Given the description of an element on the screen output the (x, y) to click on. 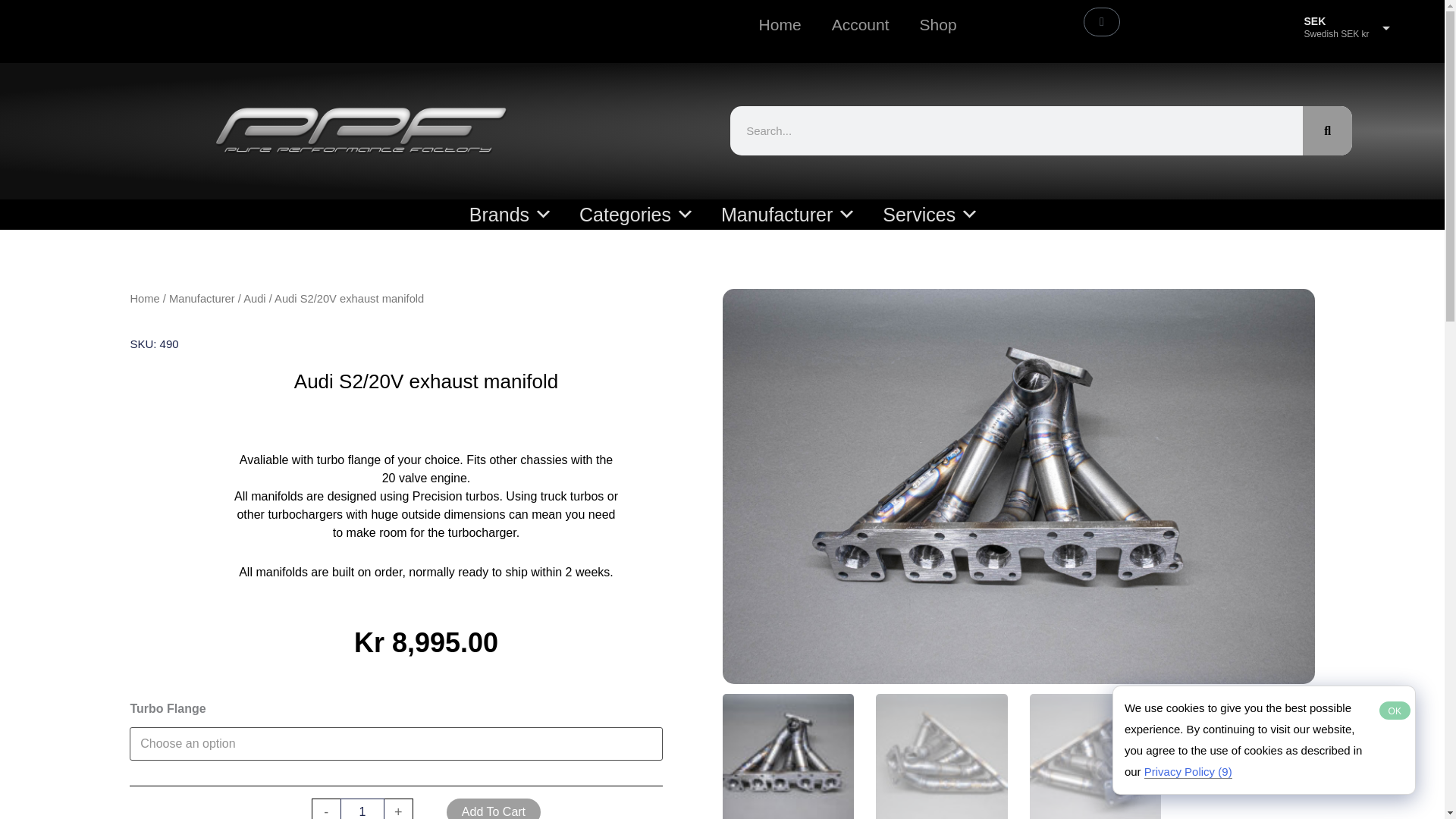
Cart (1101, 21)
Search (1327, 130)
Account (860, 24)
Shop (938, 24)
1 (362, 808)
Brands (503, 214)
Home (780, 24)
